Given the description of an element on the screen output the (x, y) to click on. 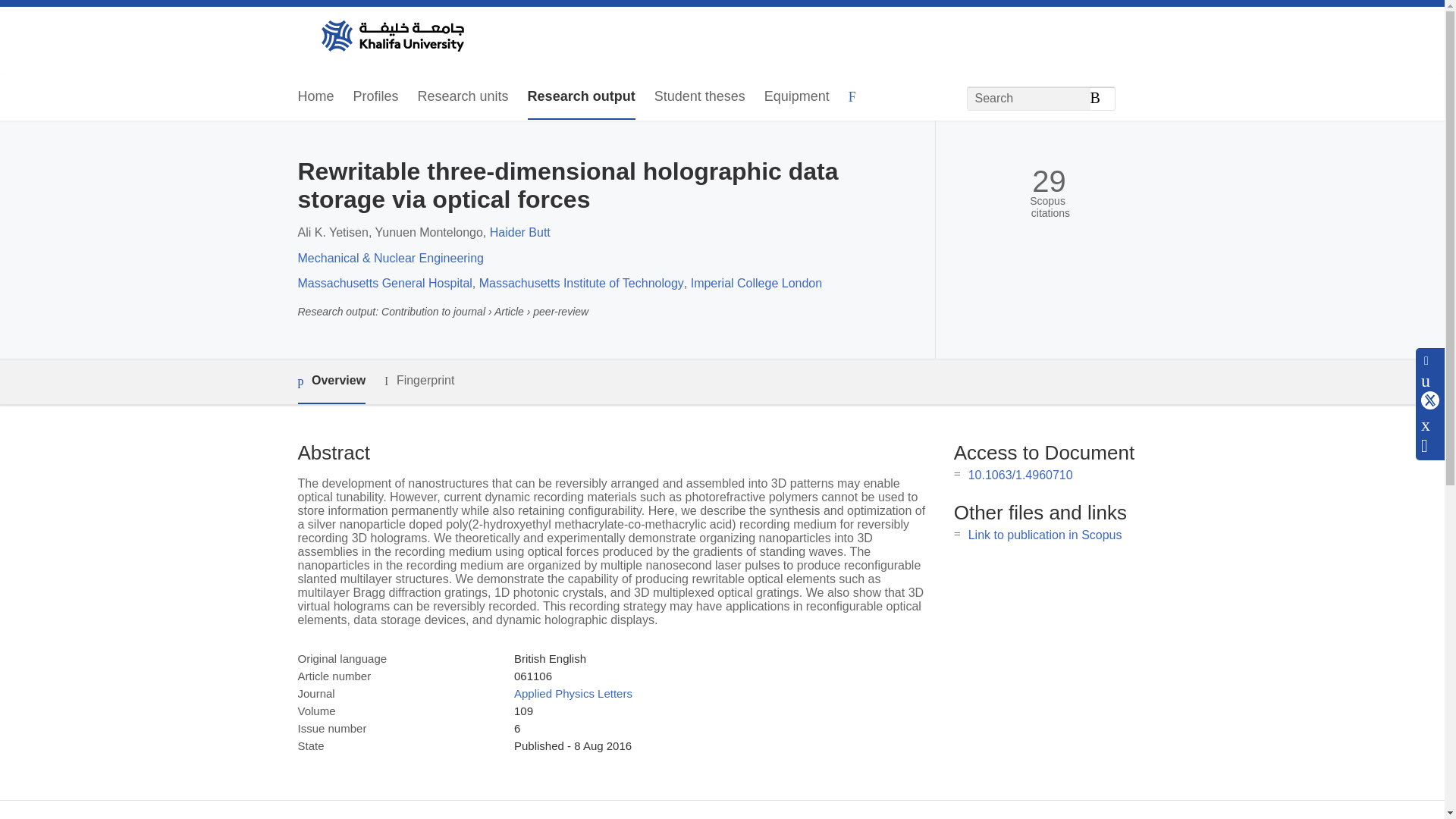
Applied Physics Letters (572, 693)
Home (315, 97)
Link to publication in Scopus (1045, 534)
Research units (462, 97)
Fingerprint (419, 380)
Imperial College London (756, 282)
Massachusetts General Hospital (384, 282)
Profiles (375, 97)
Student theses (699, 97)
Equipment (796, 97)
Khalifa University Home (391, 37)
Overview (331, 381)
Massachusetts Institute of Technology (581, 282)
Research output (580, 97)
